Given the description of an element on the screen output the (x, y) to click on. 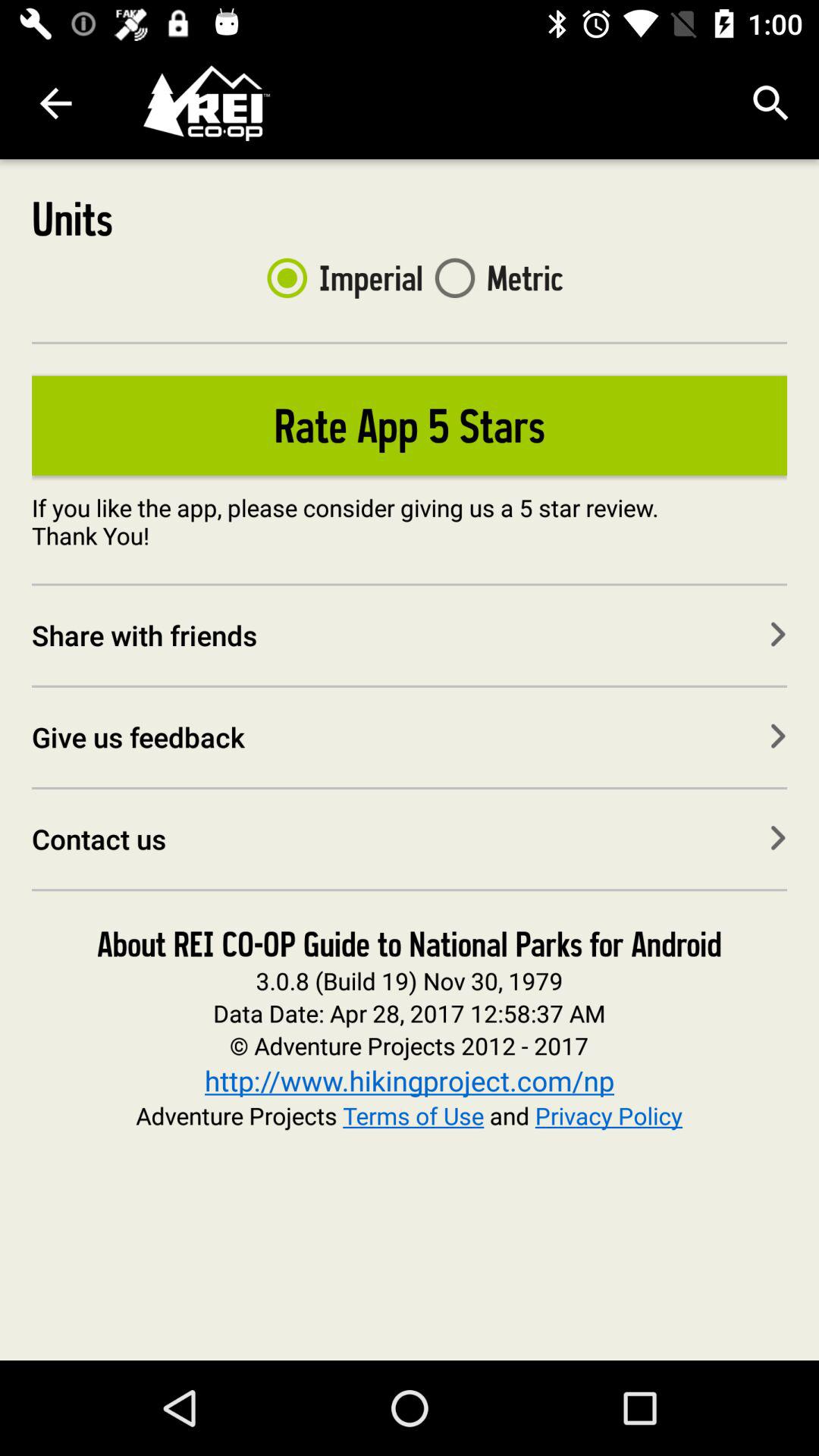
select icon to the right of the units item (339, 277)
